Given the description of an element on the screen output the (x, y) to click on. 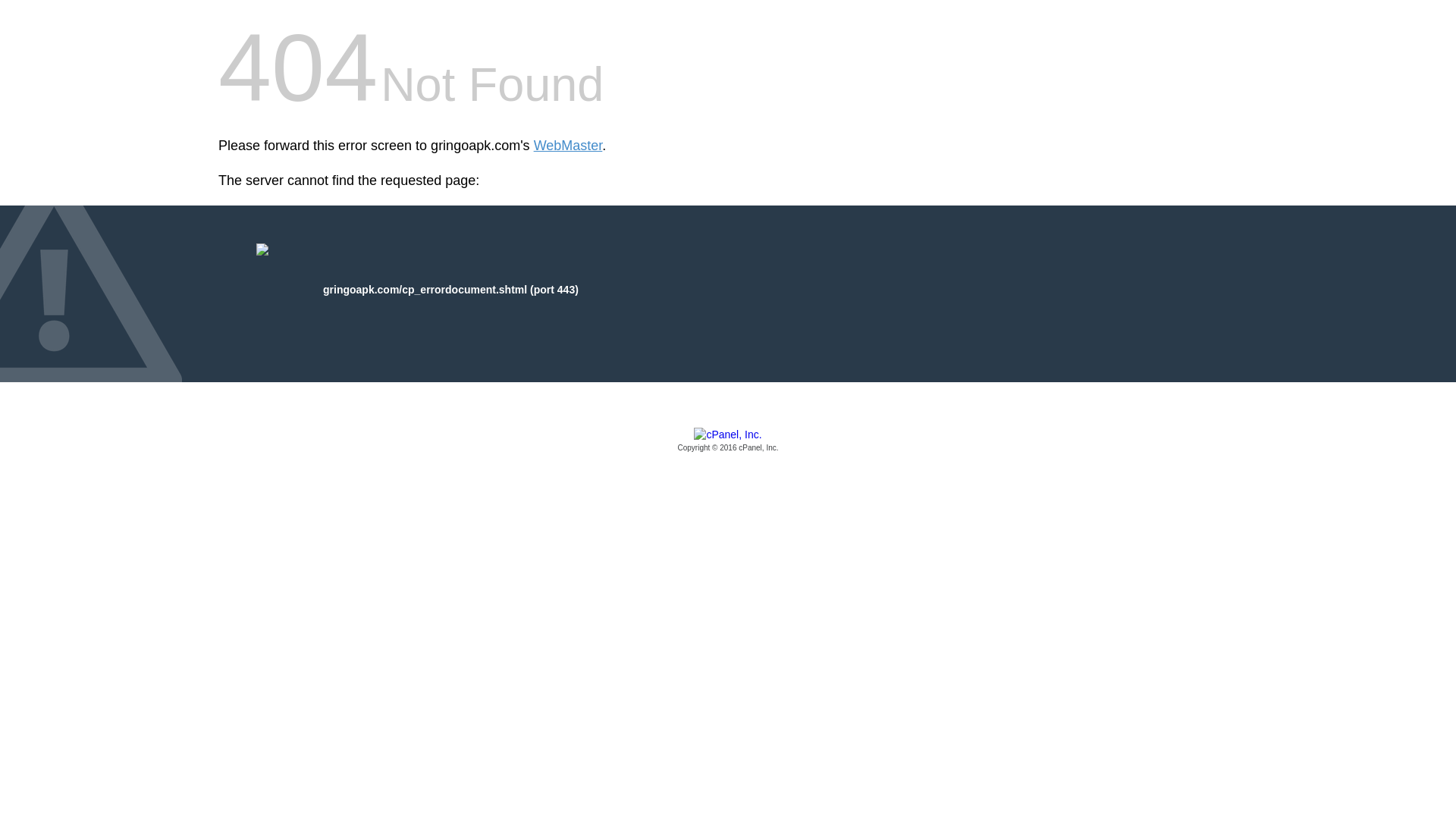
WebMaster (568, 145)
cPanel, Inc. (727, 440)
